Given the description of an element on the screen output the (x, y) to click on. 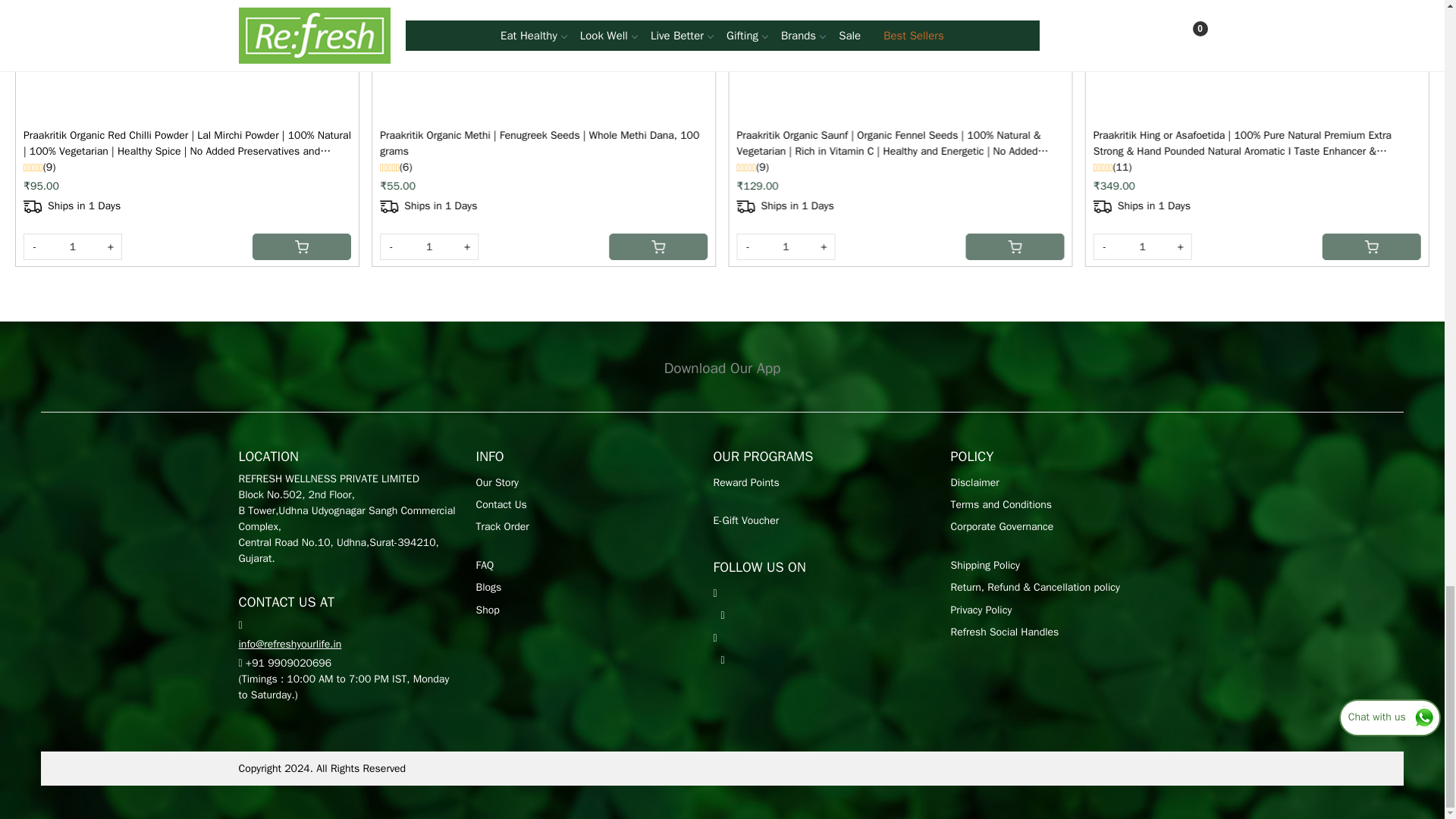
1 (72, 246)
1 (785, 246)
1 (1142, 246)
1 (429, 246)
